Given the description of an element on the screen output the (x, y) to click on. 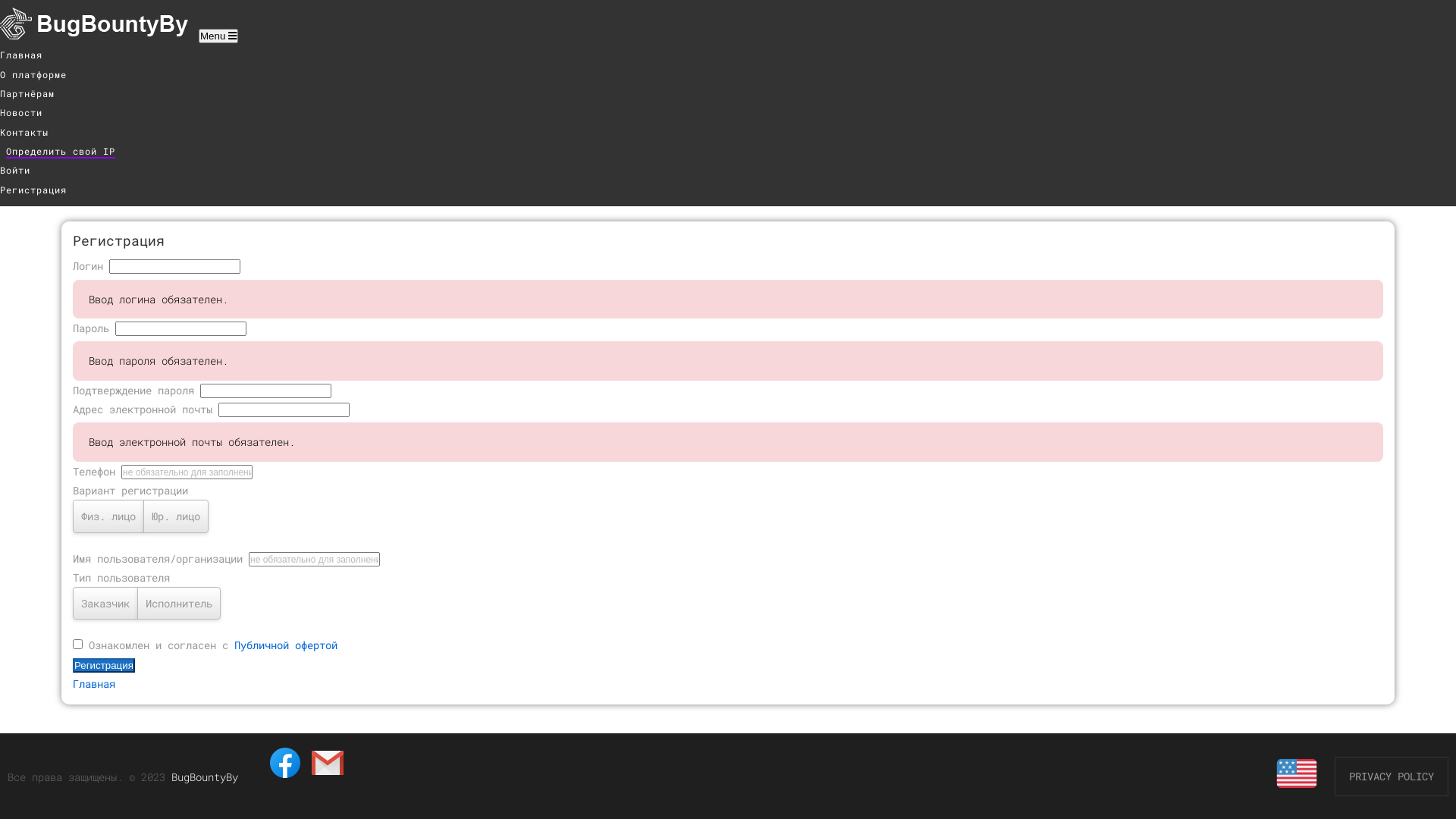
PRIVACY POLICY Element type: text (1391, 776)
BugBountyBy Element type: text (204, 776)
Menu Element type: text (218, 35)
